Given the description of an element on the screen output the (x, y) to click on. 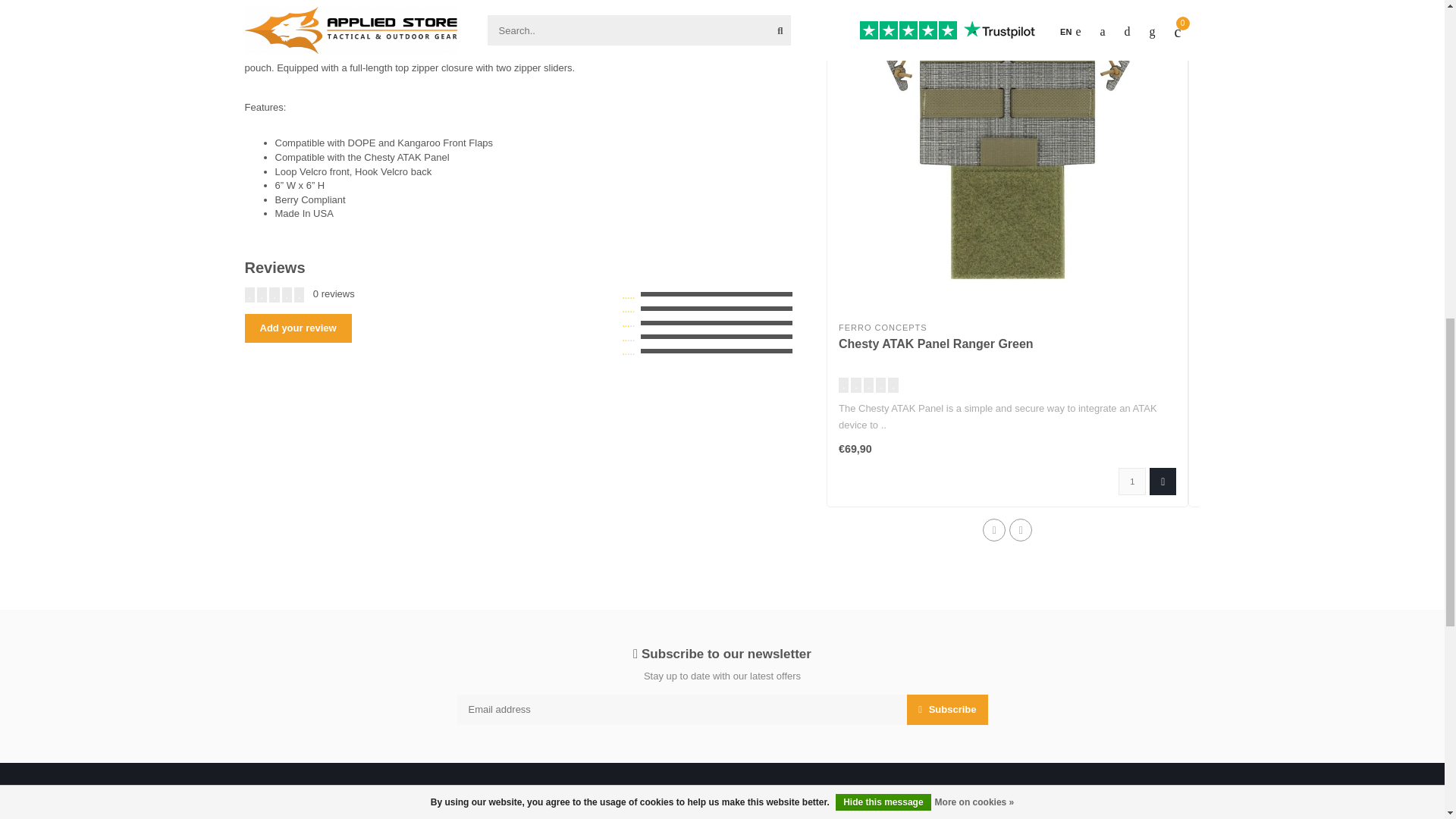
Ferro Concepts Chesty ATAK Panel Ranger Green (935, 343)
1 (1131, 481)
Ferro Concepts Chesty ATAK Panel Ranger Green (1007, 156)
